Given the description of an element on the screen output the (x, y) to click on. 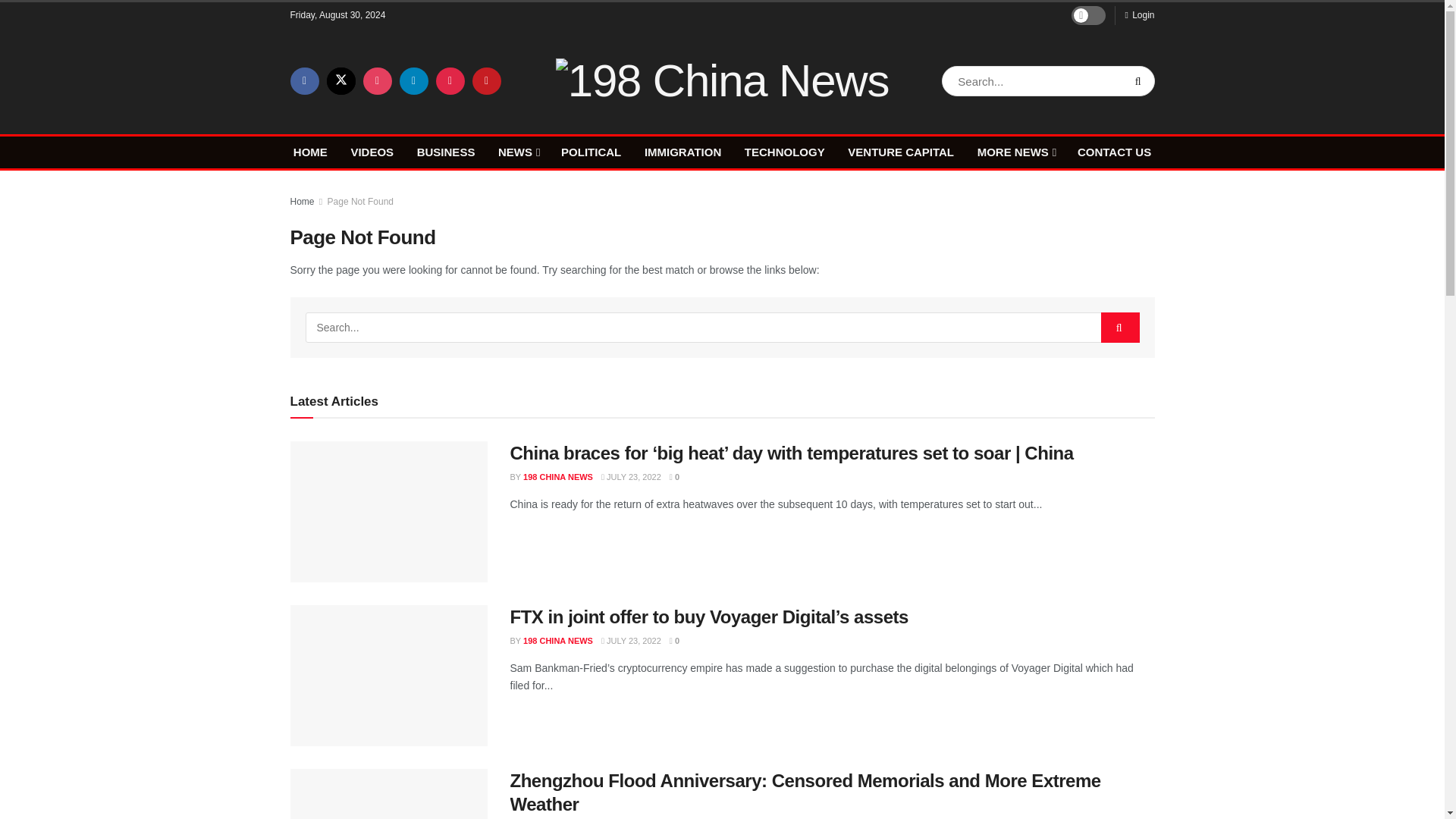
CONTACT US (1114, 151)
MORE NEWS (1015, 151)
Login (1139, 14)
BUSINESS (446, 151)
VIDEOS (371, 151)
TECHNOLOGY (784, 151)
NEWS (517, 151)
VENTURE CAPITAL (900, 151)
POLITICAL (590, 151)
HOME (310, 151)
